Given the description of an element on the screen output the (x, y) to click on. 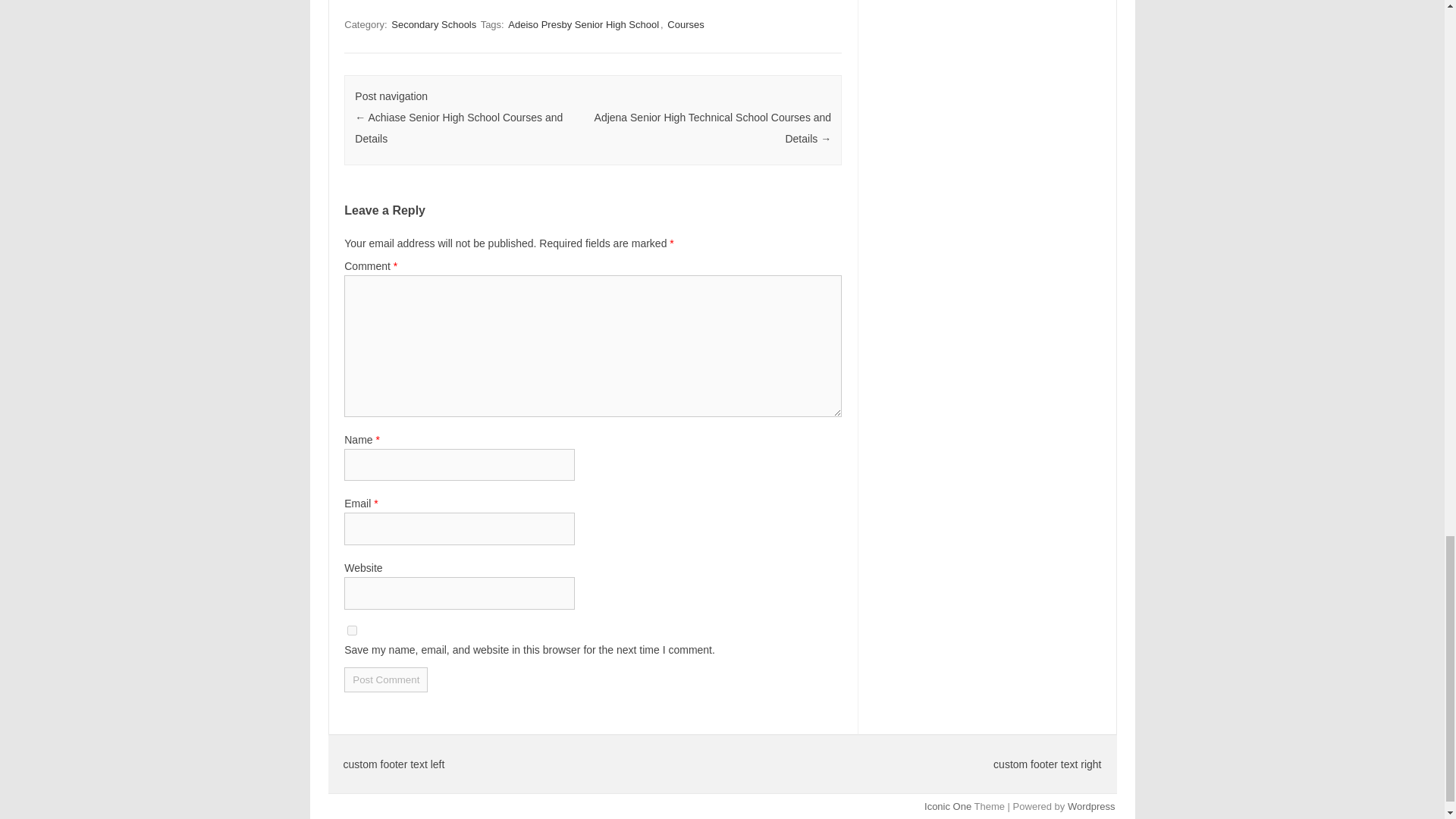
Adeiso Presby Senior High School (583, 24)
yes (351, 630)
Post Comment (385, 679)
Secondary Schools (433, 24)
Post Comment (385, 679)
Courses (684, 24)
Iconic One (947, 806)
